Given the description of an element on the screen output the (x, y) to click on. 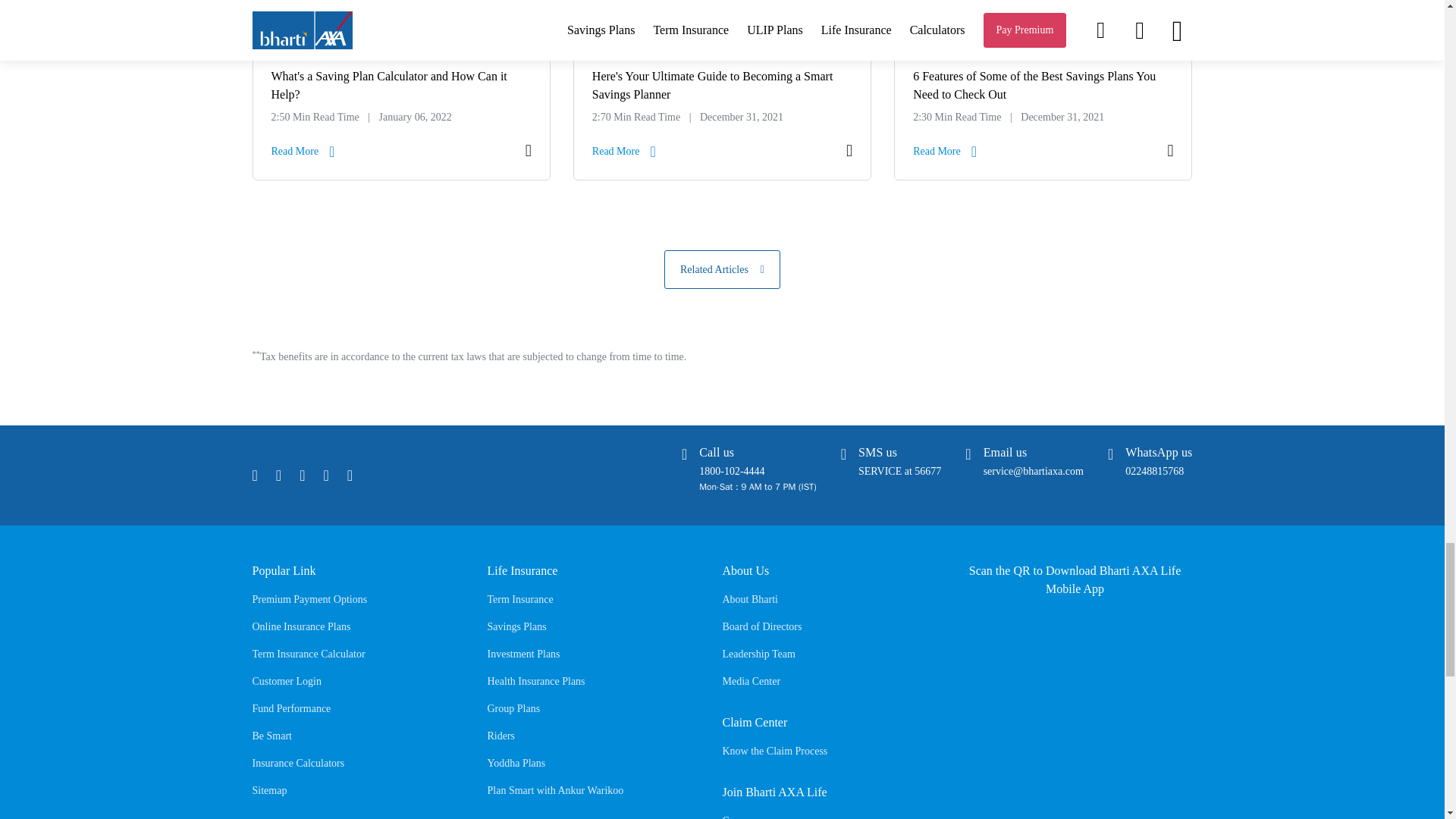
Best Savings Plans Calculator (1043, 100)
Savings Planner (721, 100)
What's a Saving Plan Calculator and How Can it Help? (401, 100)
Bhartiaxa Scanner (1074, 686)
